Given the description of an element on the screen output the (x, y) to click on. 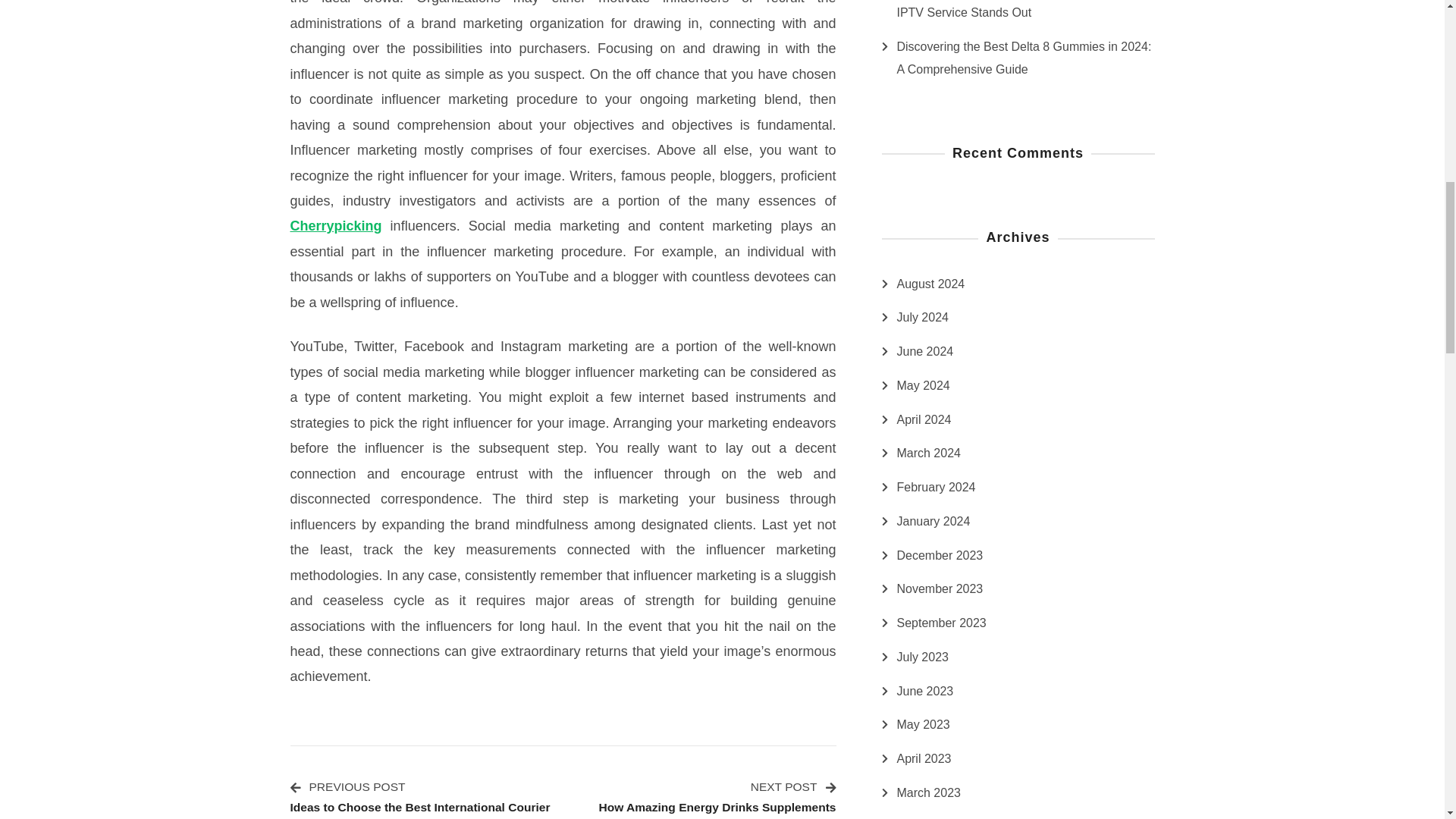
May 2023 (705, 797)
January 2023 (922, 724)
June 2023 (932, 817)
November 2023 (924, 691)
March 2023 (939, 589)
May 2024 (927, 793)
July 2023 (922, 385)
